Given the description of an element on the screen output the (x, y) to click on. 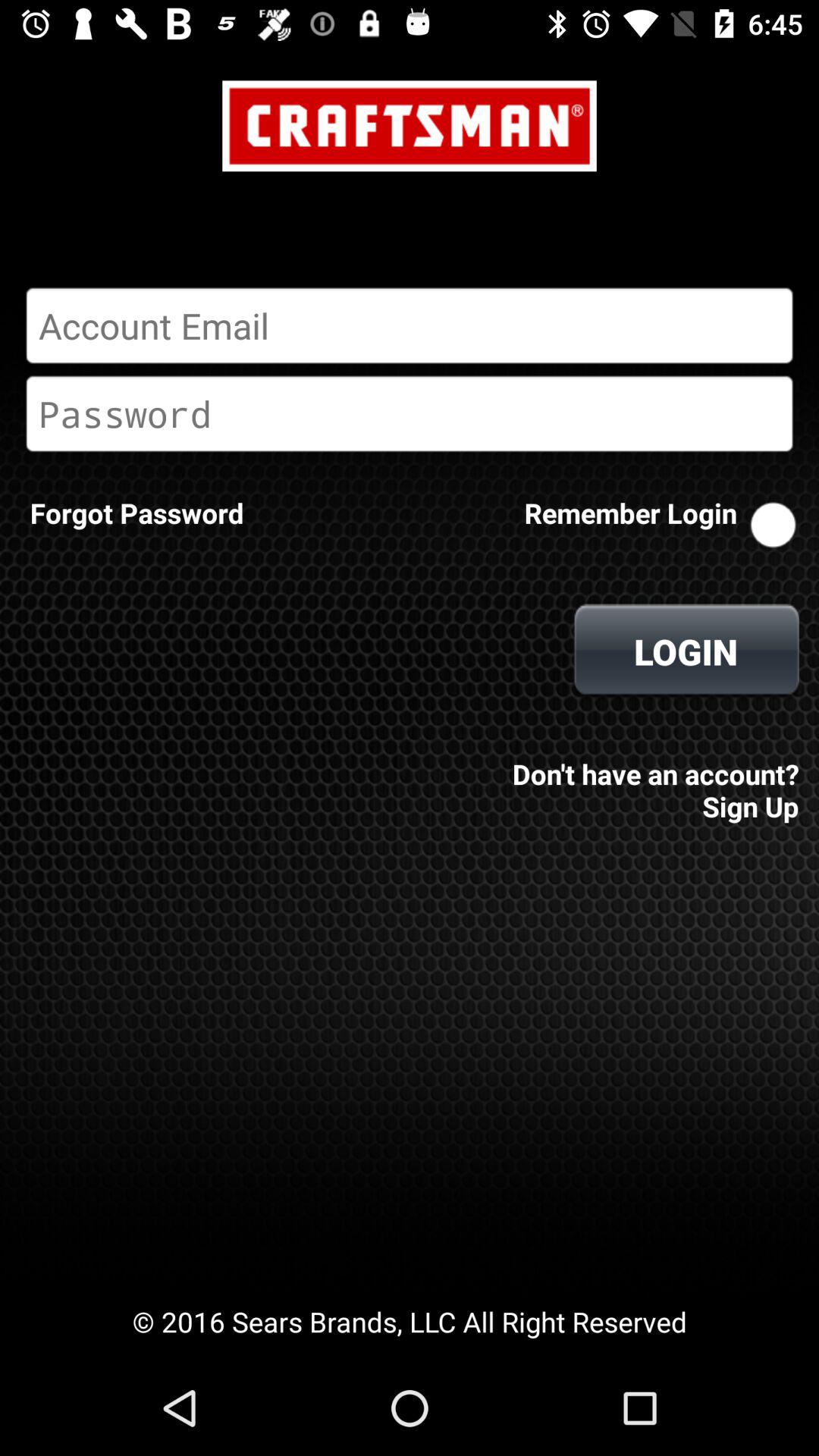
scroll to the forgot password icon (136, 512)
